Given the description of an element on the screen output the (x, y) to click on. 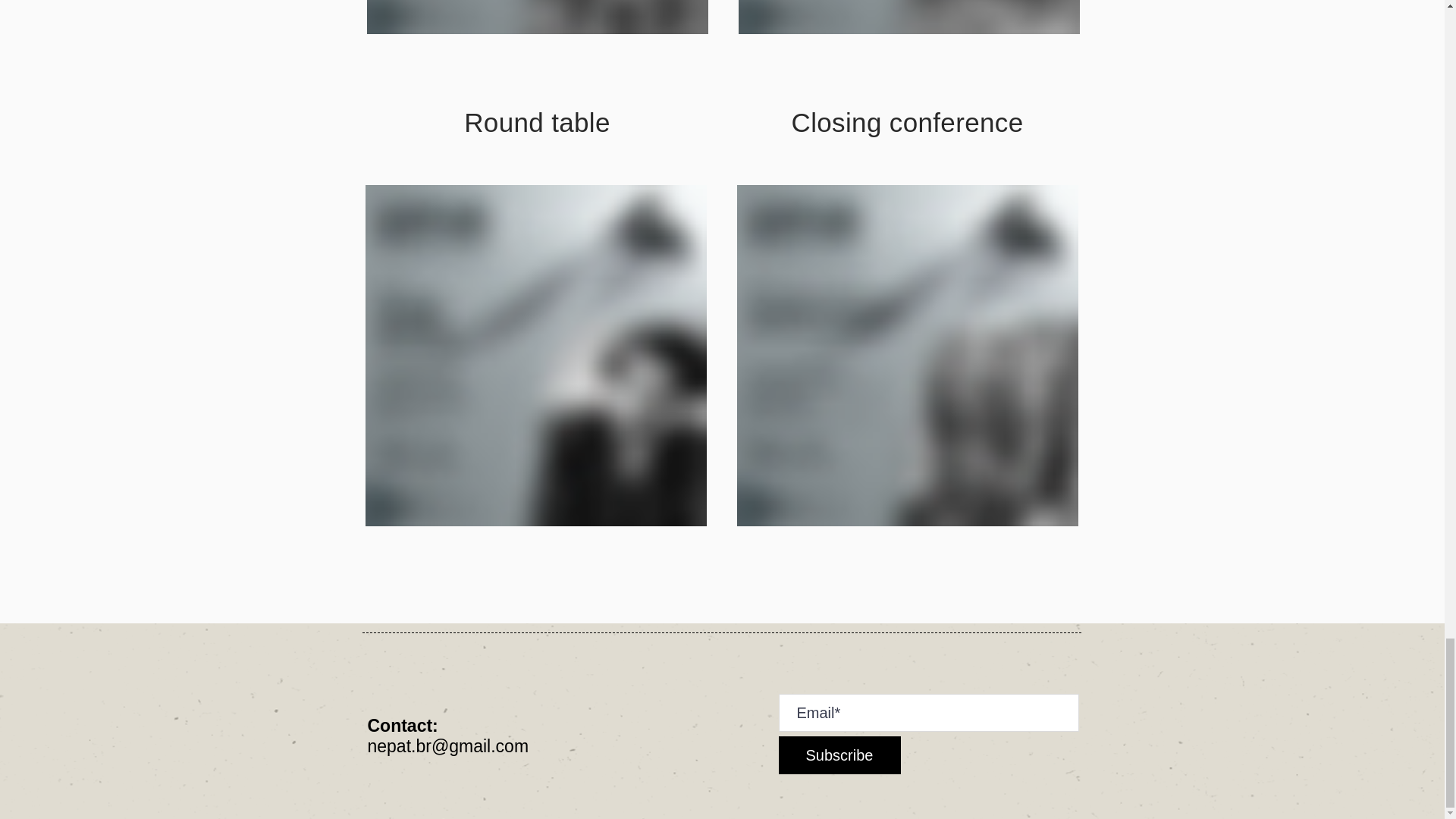
Subscribe (838, 754)
